Given the description of an element on the screen output the (x, y) to click on. 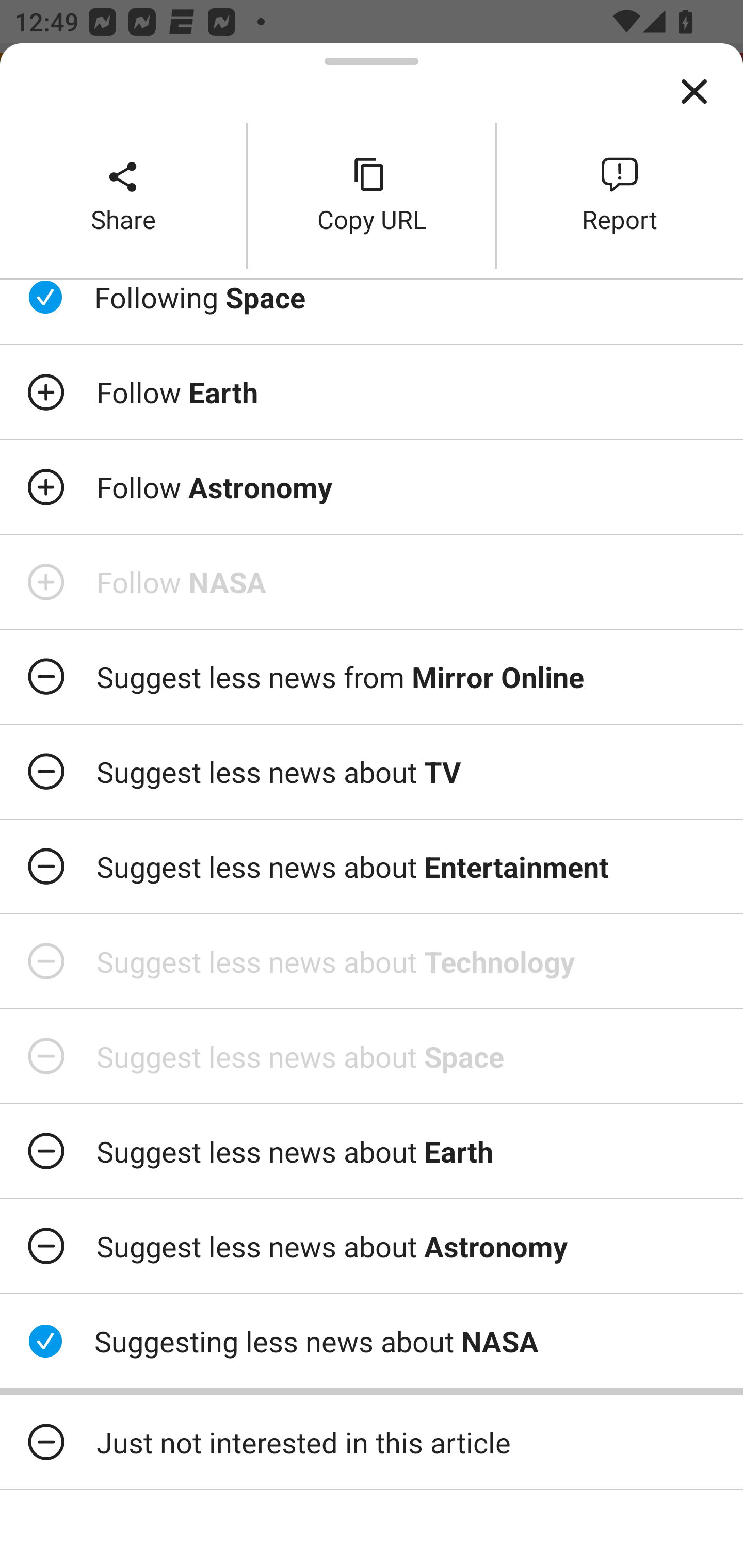
Close (694, 91)
Share (122, 195)
Copy URL (371, 195)
Report (620, 195)
Following Space (371, 311)
Follow Earth (371, 391)
Follow Astronomy (371, 486)
Follow NASA (371, 581)
Suggest less news from Mirror Online (371, 677)
Suggest less news about TV (371, 771)
Suggest less news about Entertainment (371, 867)
Suggest less news about Earth (371, 1150)
Suggest less news about Astronomy (371, 1246)
Suggesting less news about NASA (371, 1340)
Just not interested in this article (371, 1442)
